Given the description of an element on the screen output the (x, y) to click on. 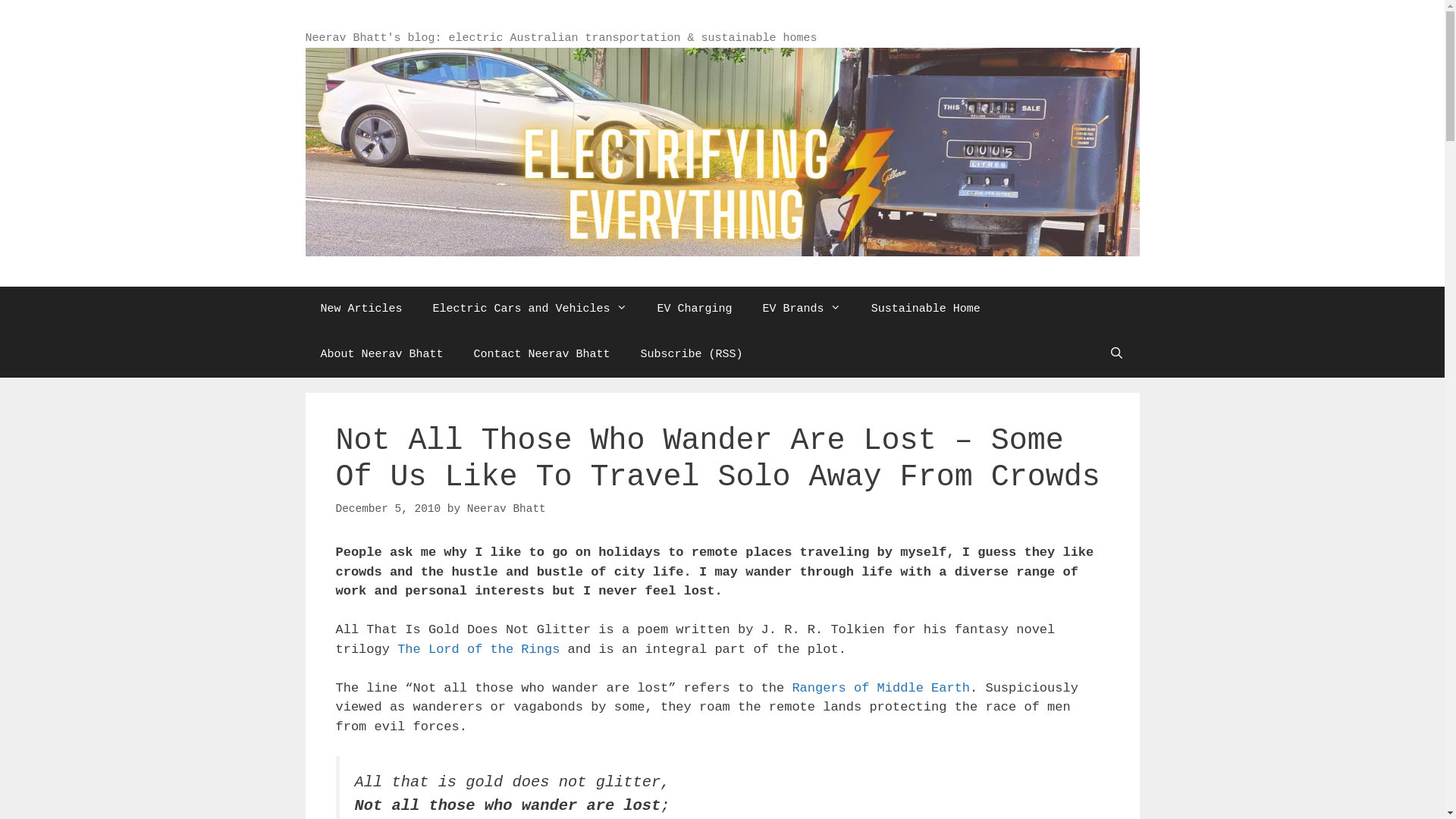
Rangers of Middle Earth Element type: text (880, 687)
About Neerav Bhatt Element type: text (381, 354)
Contact Neerav Bhatt Element type: text (541, 354)
EV Brands Element type: text (801, 309)
Subscribe (RSS) Element type: text (691, 354)
Electric Cars and Vehicles Element type: text (529, 309)
EV Charging Element type: text (694, 309)
Sustainable Home Element type: text (925, 309)
Neerav Bhatt Element type: text (506, 508)
The Lord of the Rings Element type: text (478, 649)
New Articles Element type: text (360, 309)
